Given the description of an element on the screen output the (x, y) to click on. 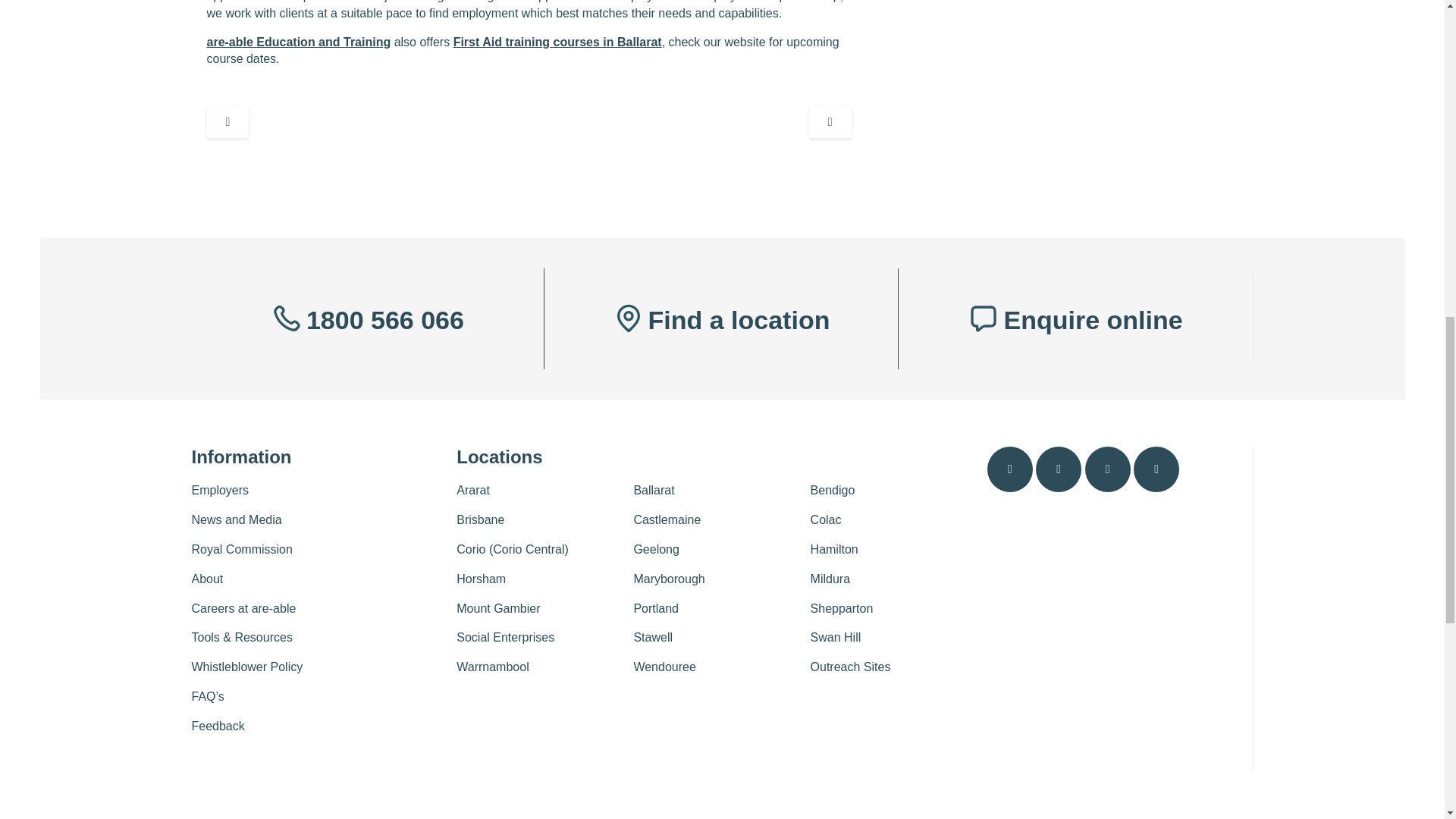
Facebook (1009, 469)
Instagram (1058, 469)
YouTube (1156, 469)
Linkedin (1107, 469)
